Given the description of an element on the screen output the (x, y) to click on. 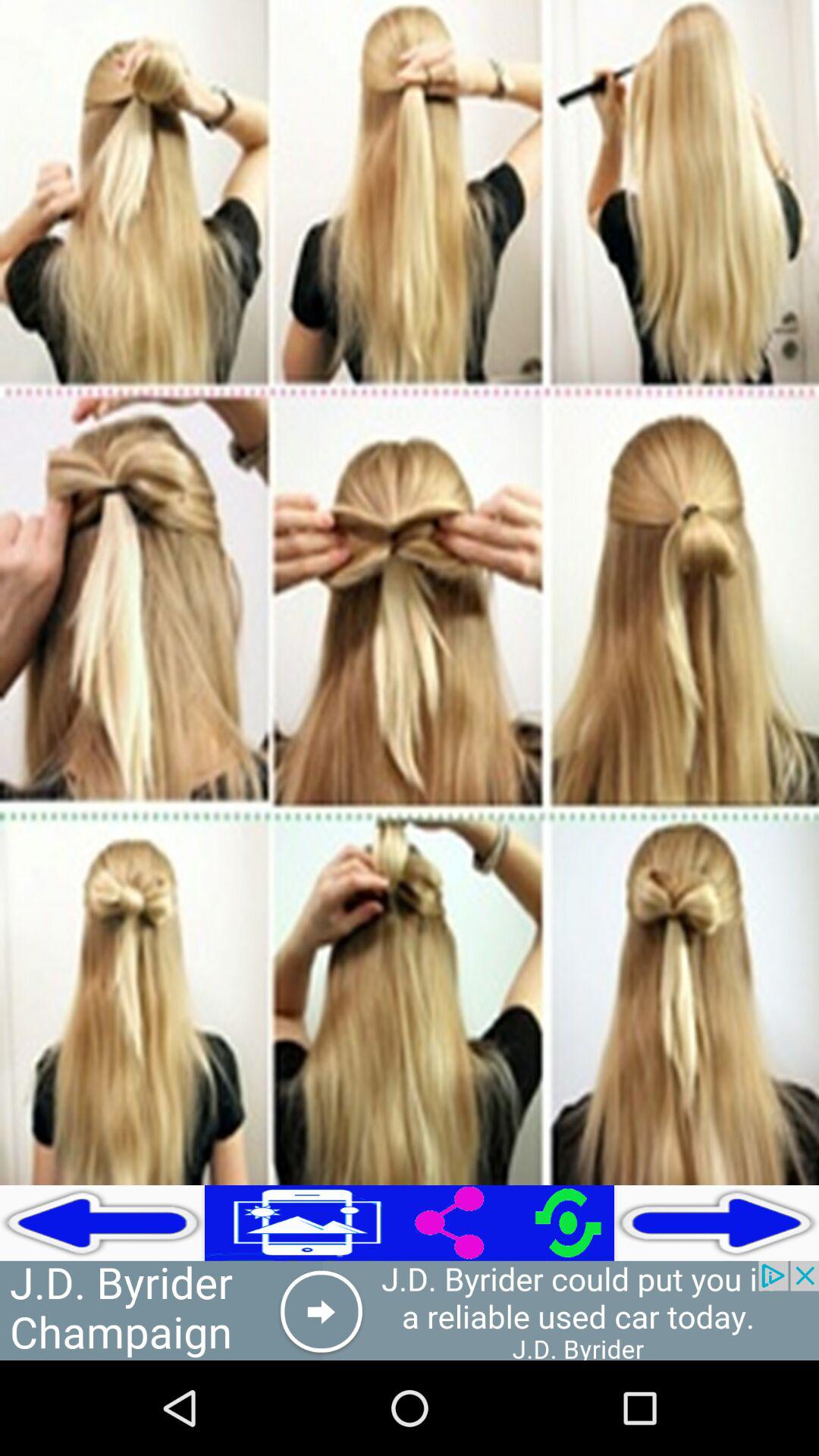
go to back (102, 1222)
